Given the description of an element on the screen output the (x, y) to click on. 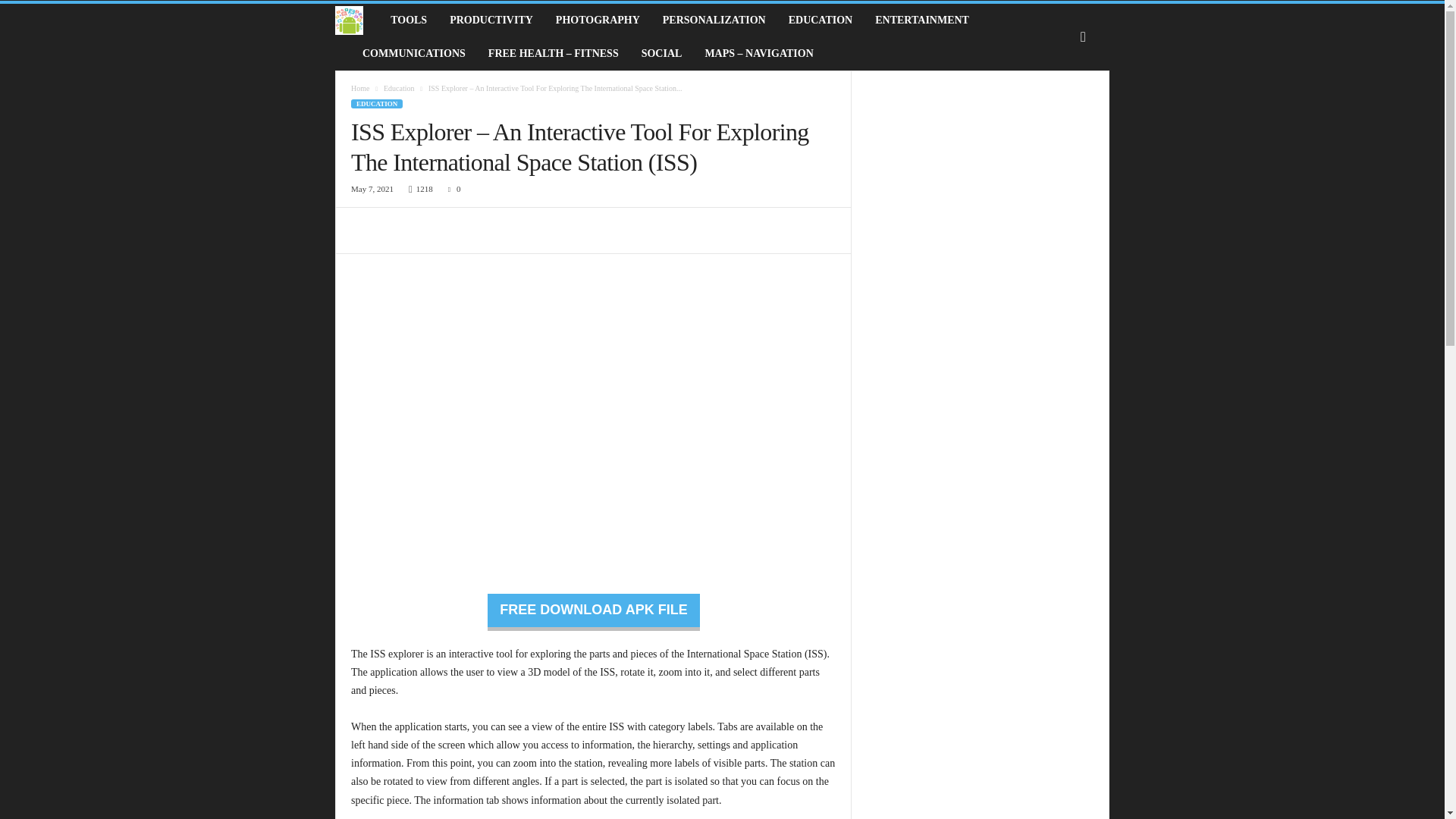
HTApp (356, 20)
PERSONALIZATION (713, 20)
EDUCATION (376, 103)
SOCIAL (662, 53)
COMMUNICATIONS (413, 53)
PHOTOGRAPHY (597, 20)
ENTERTAINMENT (921, 20)
Education (399, 88)
Home (359, 88)
PRODUCTIVITY (491, 20)
